Given the description of an element on the screen output the (x, y) to click on. 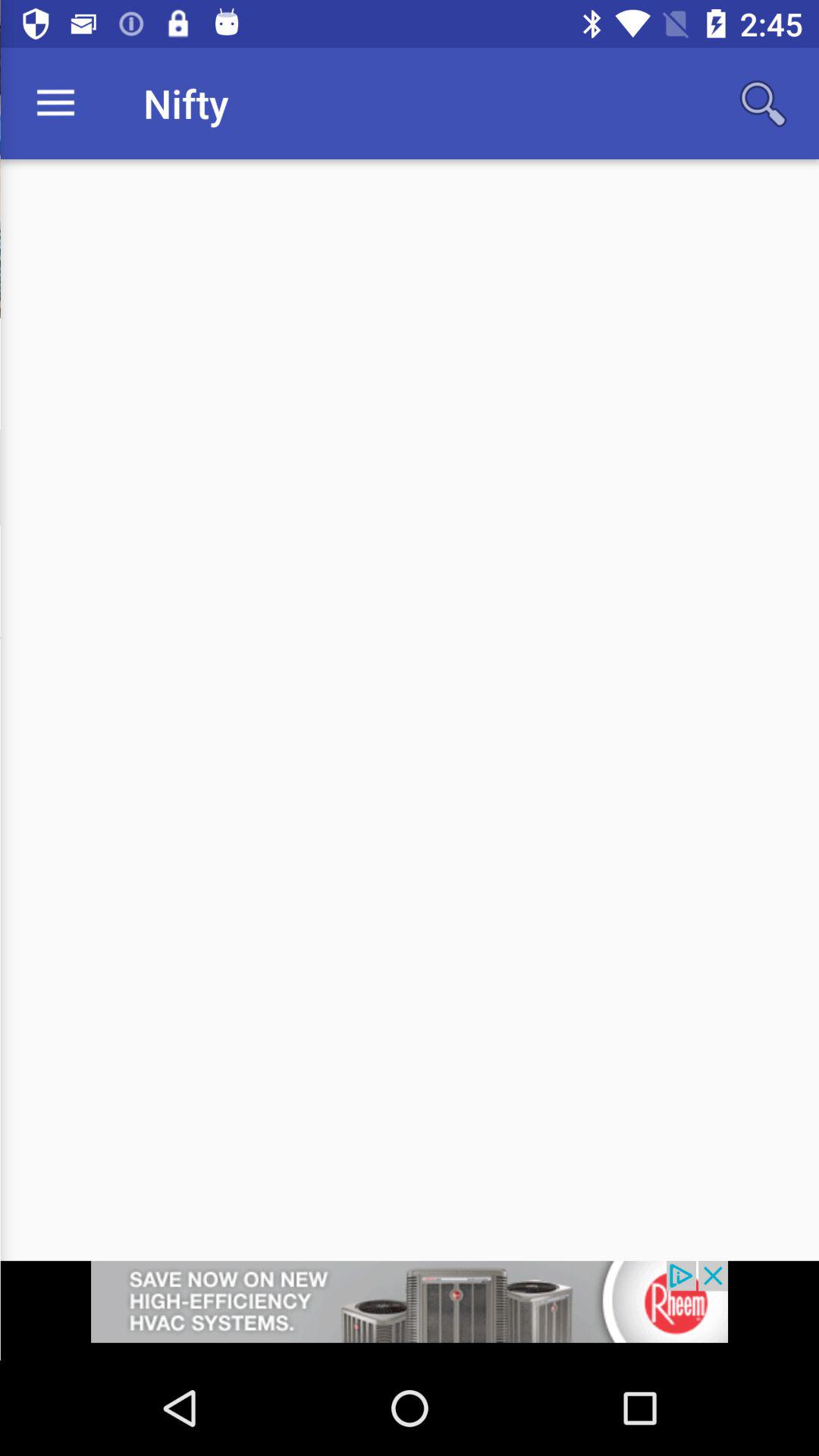
open advertisement (409, 1310)
